Given the description of an element on the screen output the (x, y) to click on. 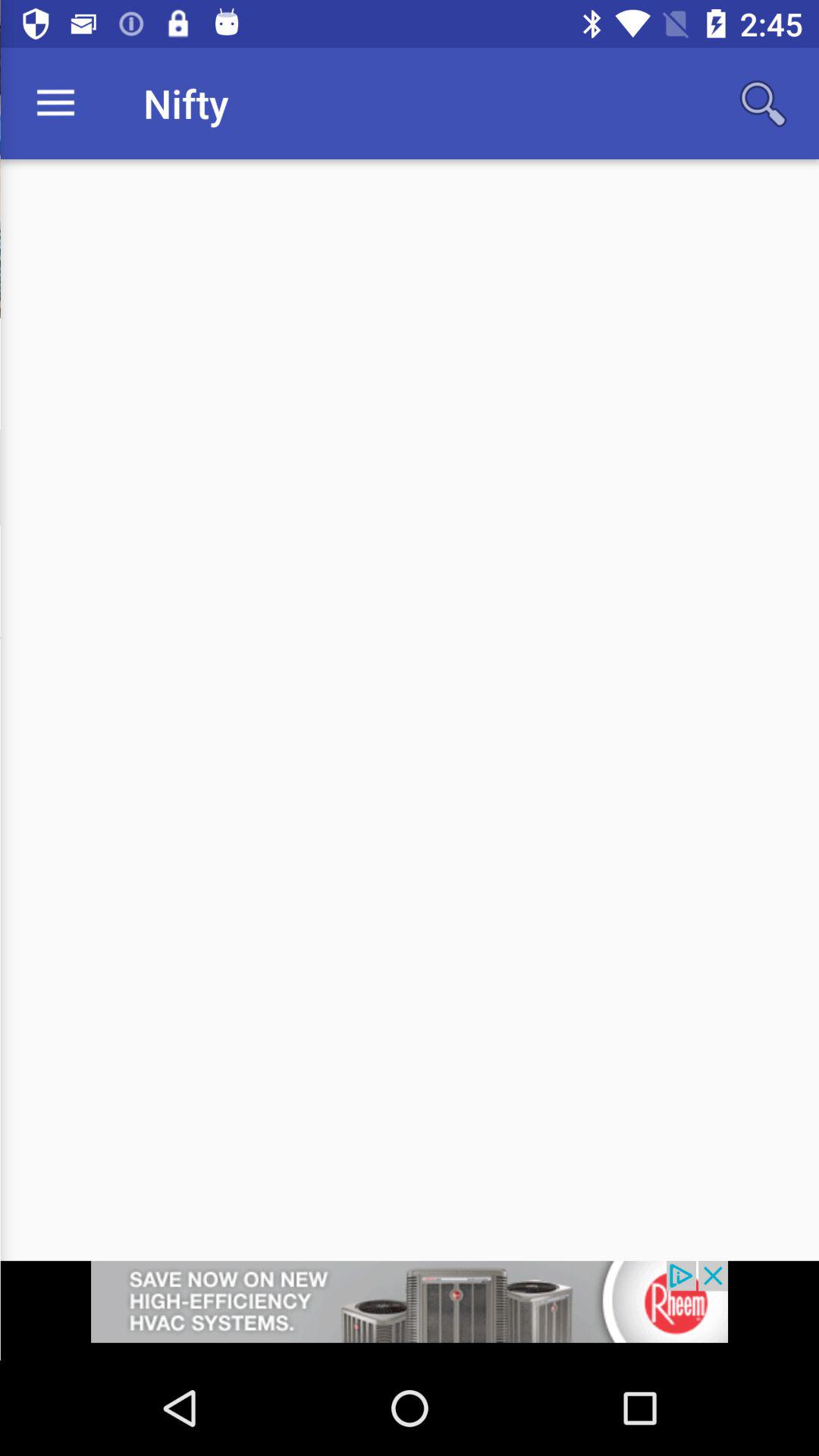
open advertisement (409, 1310)
